Given the description of an element on the screen output the (x, y) to click on. 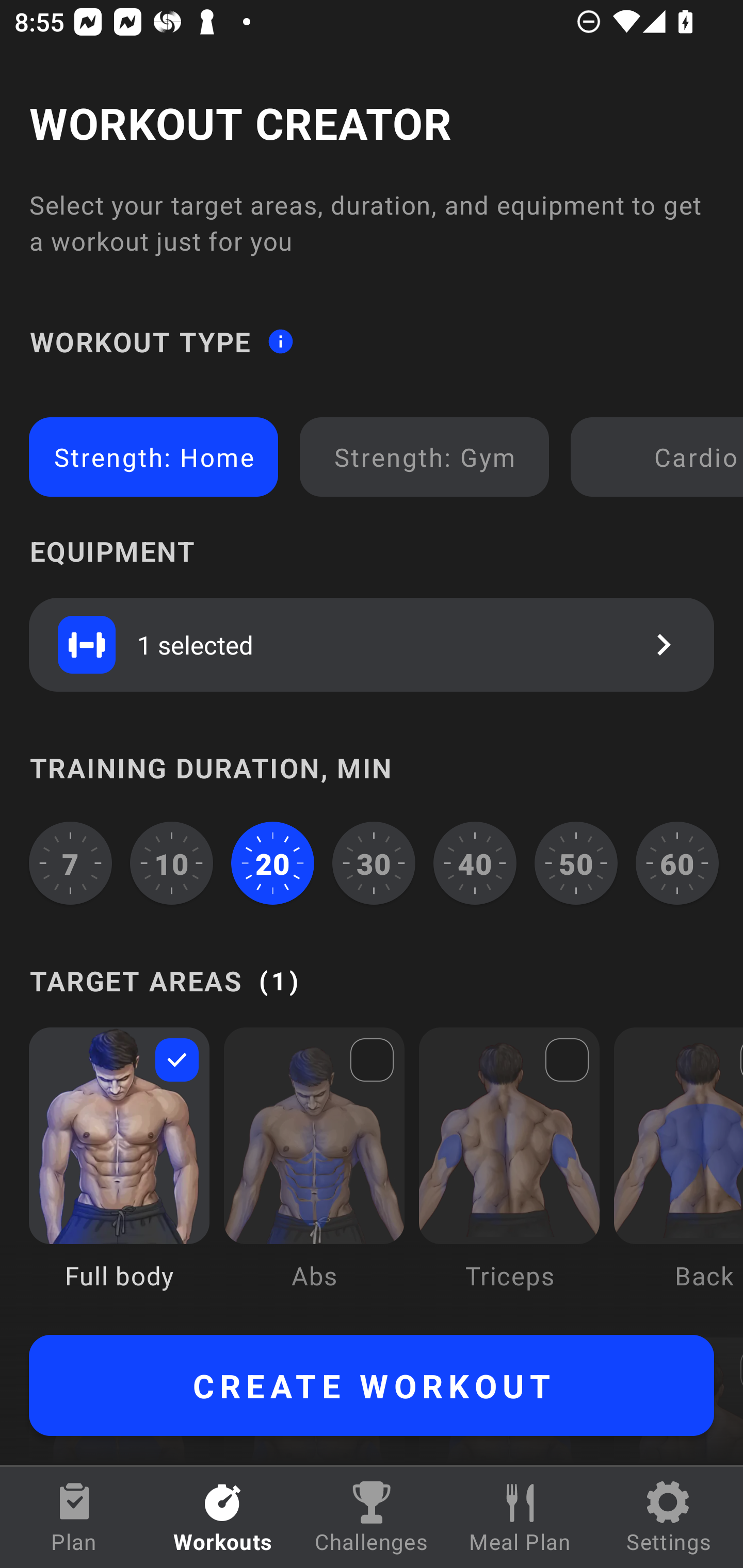
Workout type information button (280, 340)
Strength: Gym (423, 457)
Cardio (660, 457)
1 selected (371, 644)
7 (70, 862)
10 (171, 862)
20 (272, 862)
30 (373, 862)
40 (474, 862)
50 (575, 862)
60 (676, 862)
Abs (313, 1172)
Triceps (509, 1172)
Back (678, 1172)
CREATE WORKOUT (371, 1385)
 Plan  (74, 1517)
 Challenges  (371, 1517)
 Meal Plan  (519, 1517)
 Settings  (668, 1517)
